Given the description of an element on the screen output the (x, y) to click on. 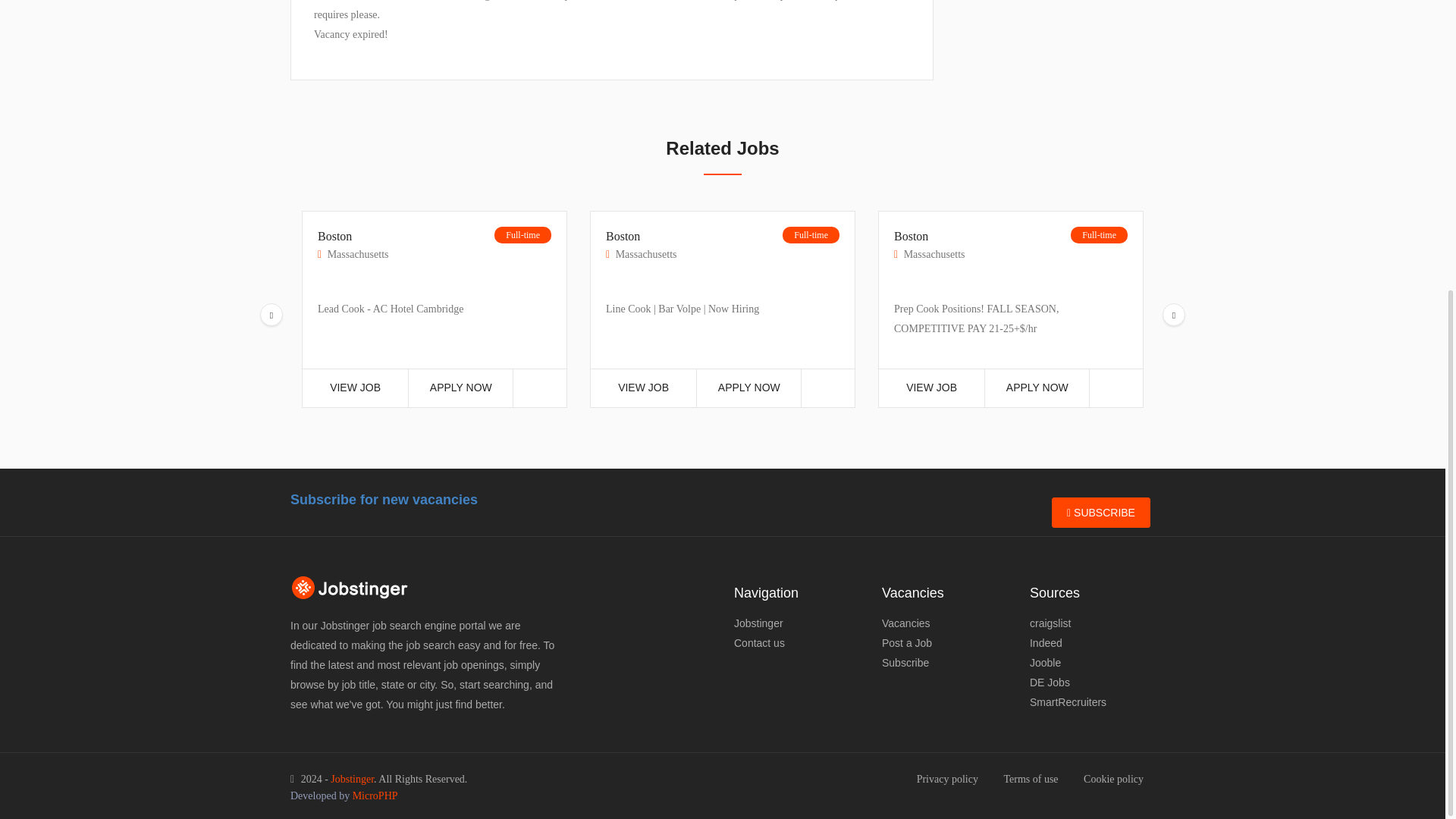
VIEW JOB (931, 388)
Boston (352, 244)
APPLY NOW (748, 388)
APPLY NOW (460, 388)
VIEW JOB (643, 388)
Boston (929, 244)
VIEW JOB (354, 388)
Boston (641, 244)
